Given the description of an element on the screen output the (x, y) to click on. 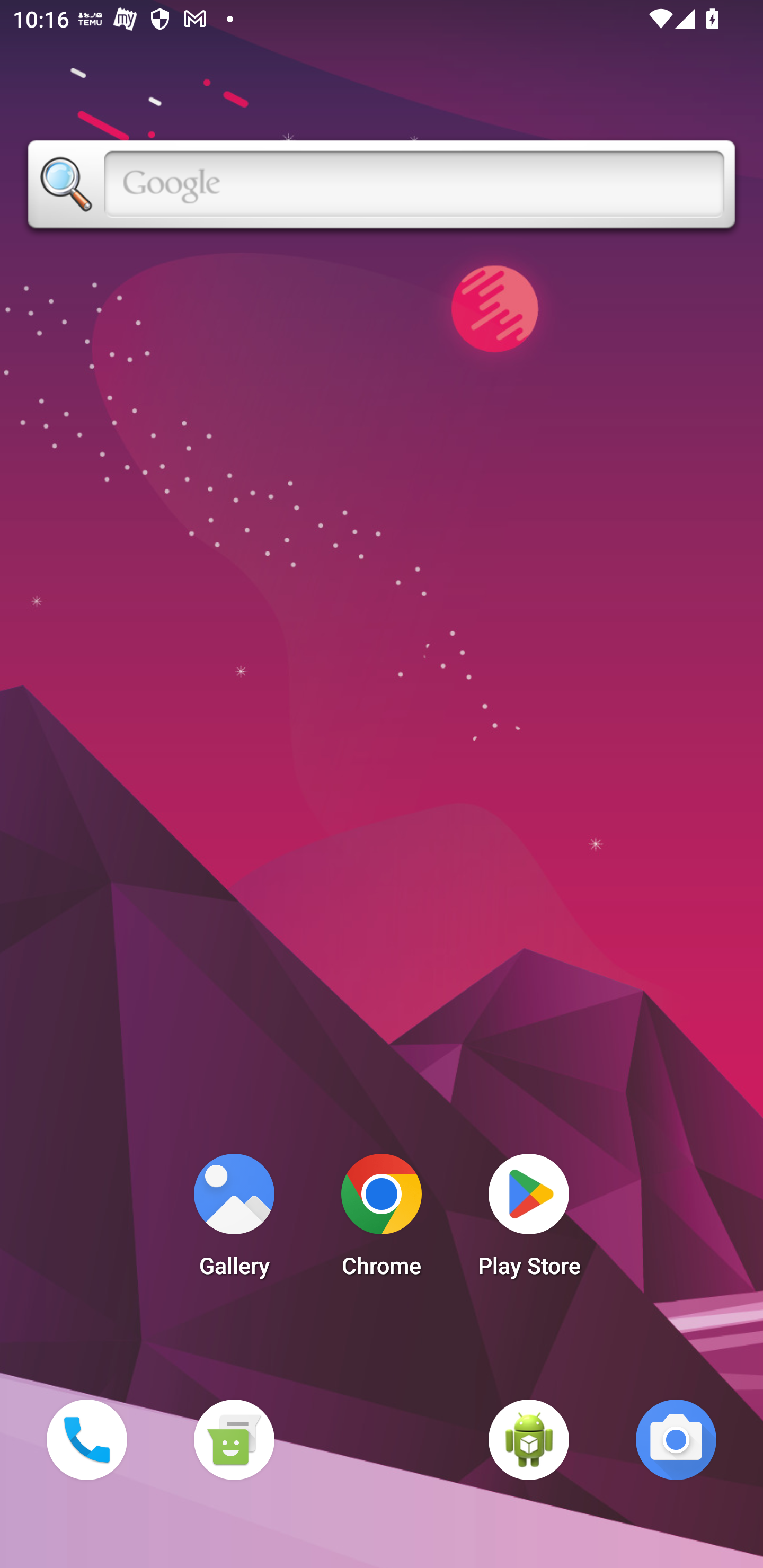
Gallery (233, 1220)
Chrome (381, 1220)
Play Store (528, 1220)
Phone (86, 1439)
Messaging (233, 1439)
WebView Browser Tester (528, 1439)
Camera (676, 1439)
